Given the description of an element on the screen output the (x, y) to click on. 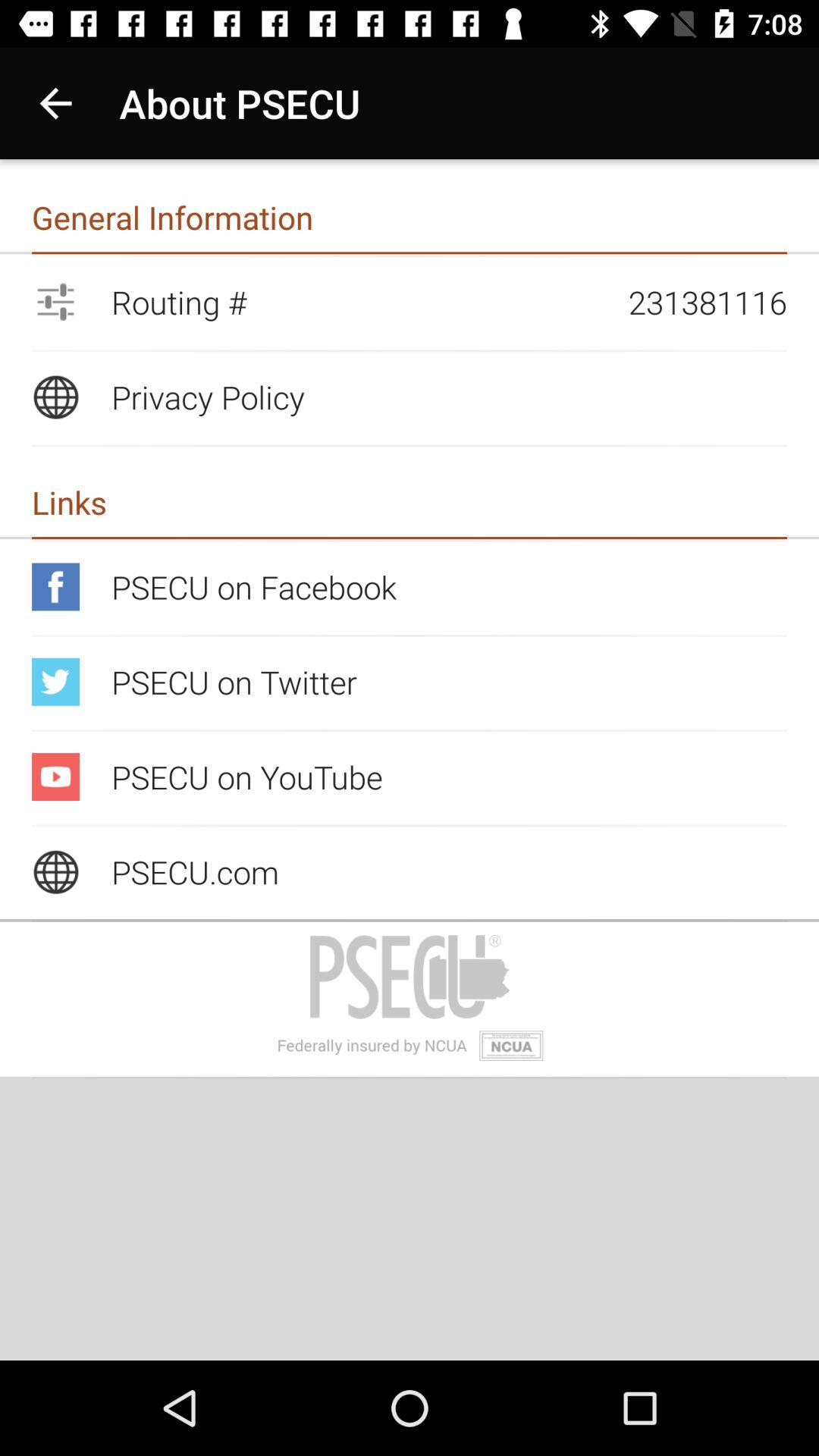
choose the icon above the general information (55, 103)
